Given the description of an element on the screen output the (x, y) to click on. 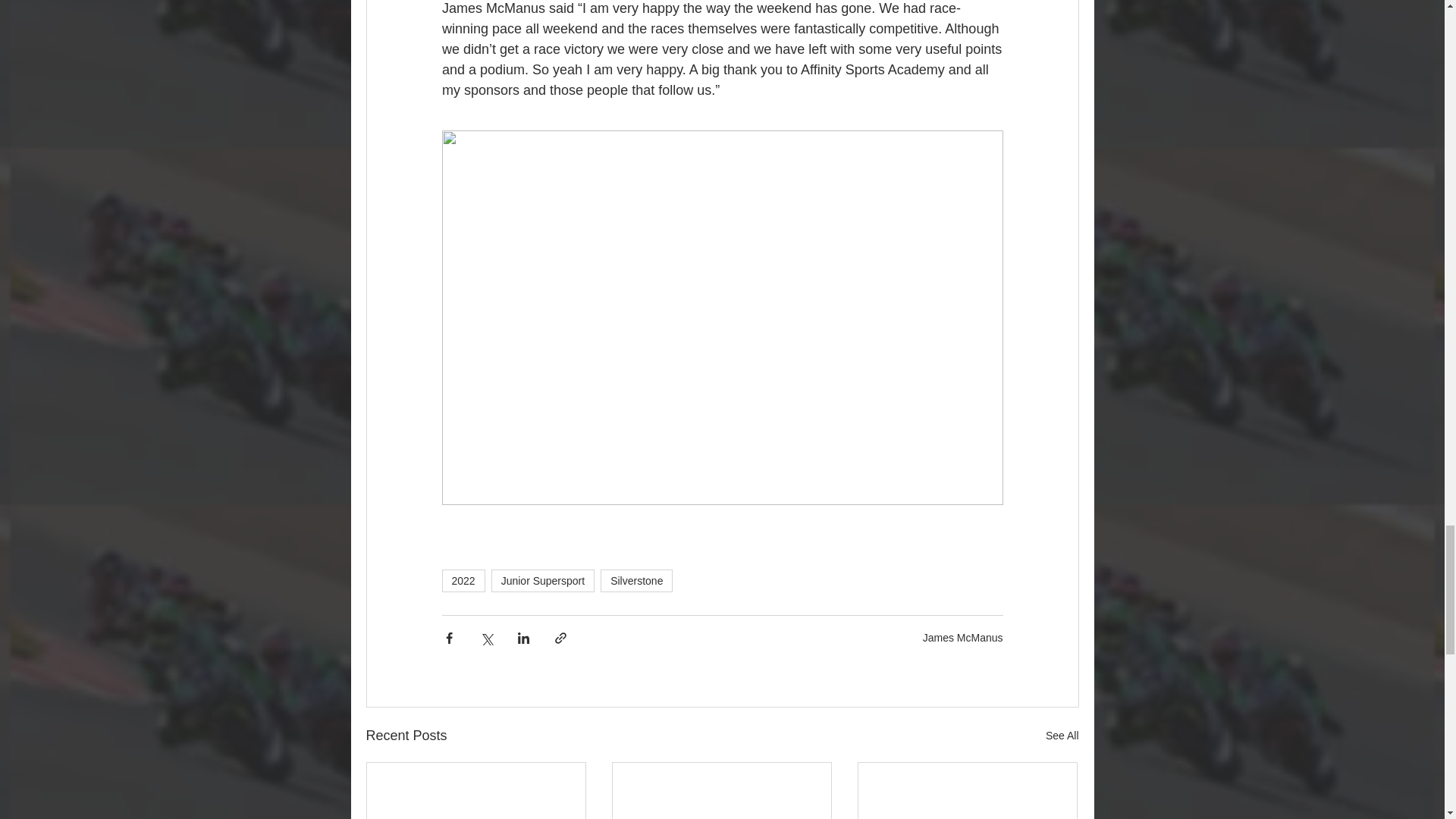
Junior Supersport (543, 580)
James McManus (963, 637)
See All (1061, 735)
2022 (462, 580)
Silverstone (635, 580)
